Given the description of an element on the screen output the (x, y) to click on. 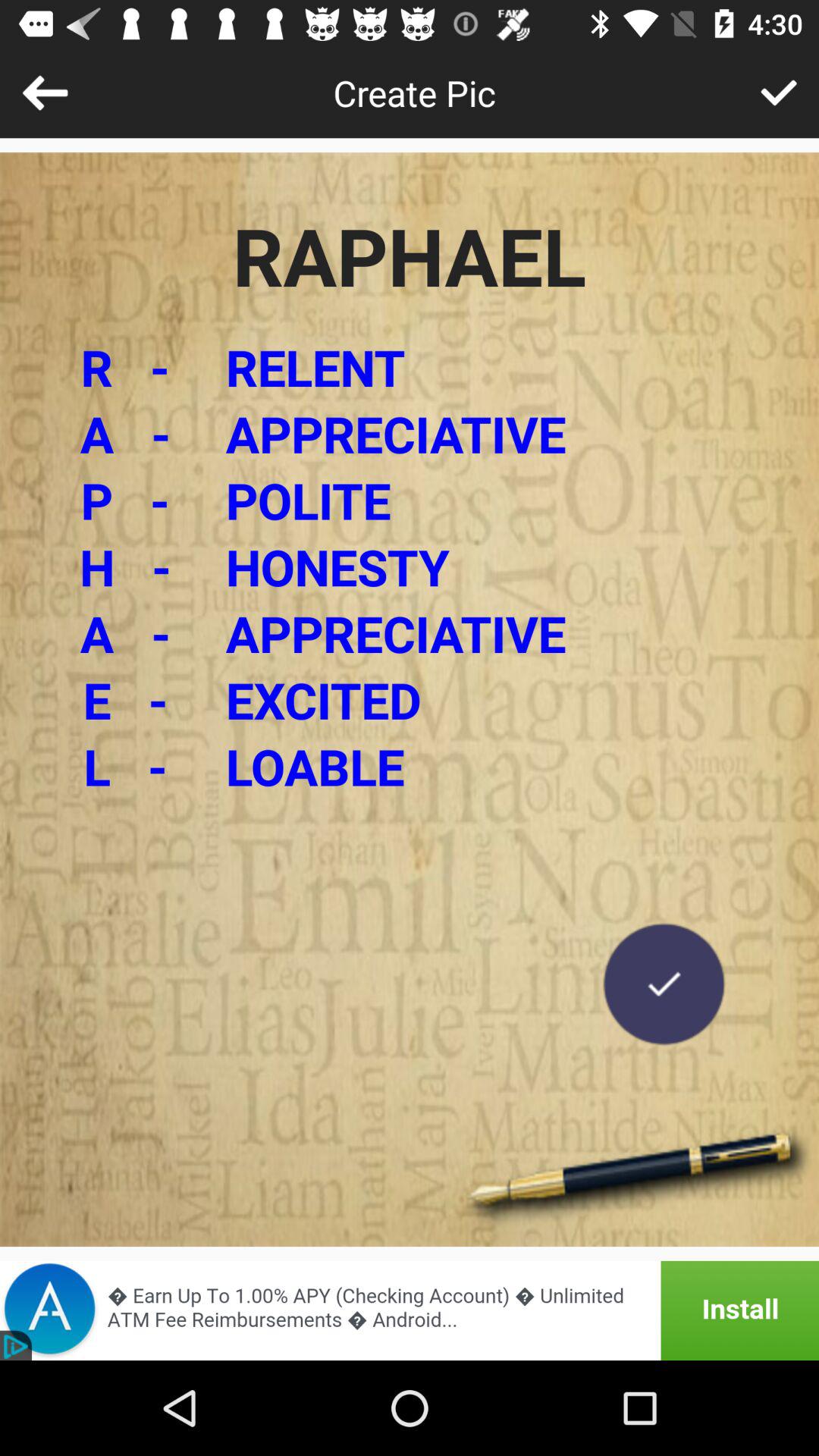
check mark (664, 983)
